Given the description of an element on the screen output the (x, y) to click on. 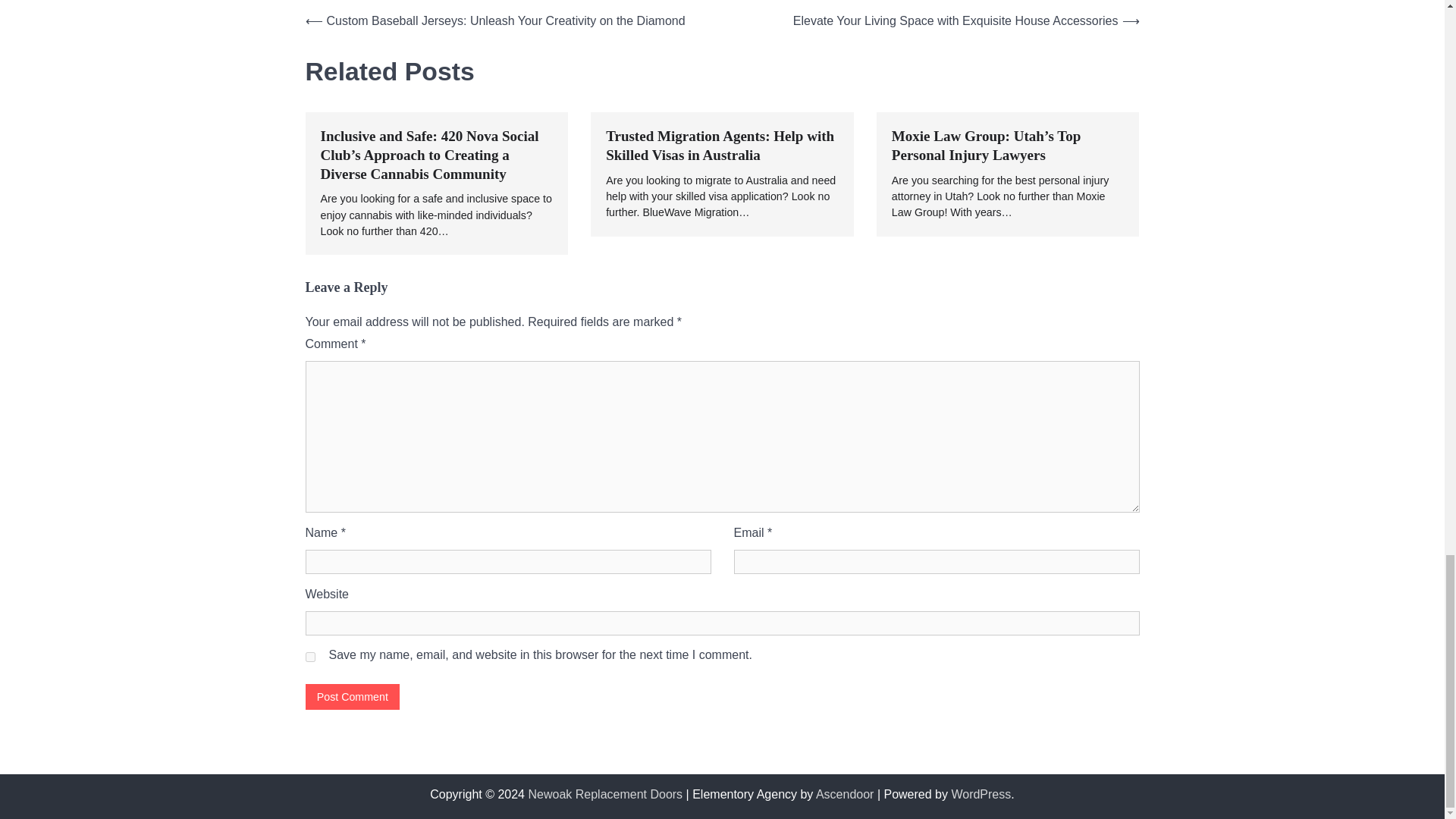
Newoak Replacement Doors (604, 793)
WordPress (980, 793)
yes (309, 656)
Post Comment (351, 696)
Ascendoor (845, 793)
Post Comment (351, 696)
